Given the description of an element on the screen output the (x, y) to click on. 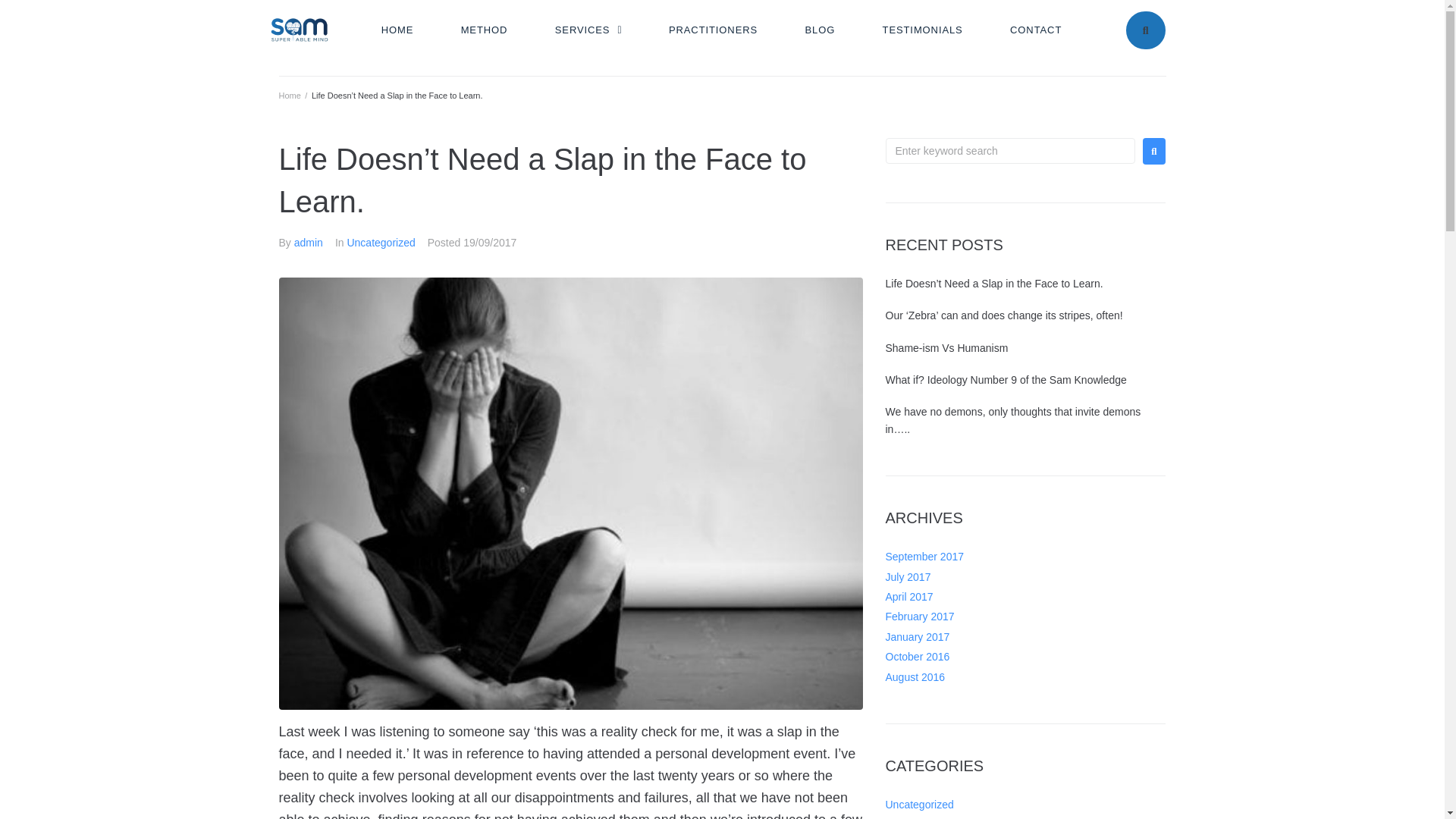
SERVICES (589, 30)
HOME (398, 30)
July 2017 (908, 576)
August 2016 (914, 676)
October 2016 (917, 656)
April 2017 (909, 596)
What if? Ideology Number 9 of the Sam Knowledge (1005, 379)
METHOD (484, 30)
February 2017 (920, 616)
BLOG (820, 30)
TESTIMONIALS (923, 30)
Uncategorized (919, 804)
September 2017 (924, 556)
January 2017 (917, 636)
Home (290, 94)
